Given the description of an element on the screen output the (x, y) to click on. 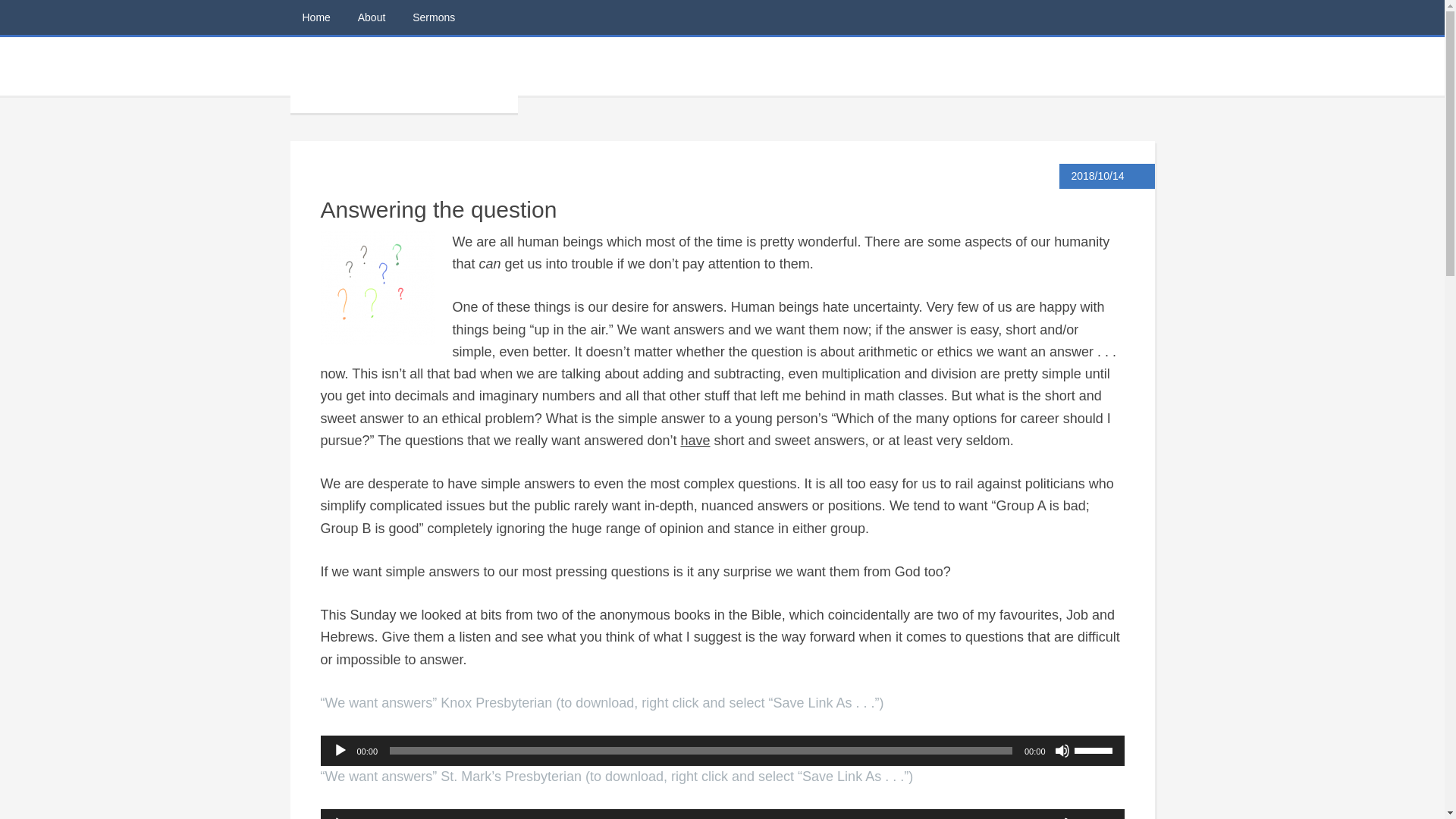
WORDS FROM THE MIDDLE (402, 74)
Play (339, 750)
About (371, 17)
Mute (1061, 750)
Mute (1061, 817)
Sermons (433, 17)
Home (315, 17)
Play (339, 817)
